Given the description of an element on the screen output the (x, y) to click on. 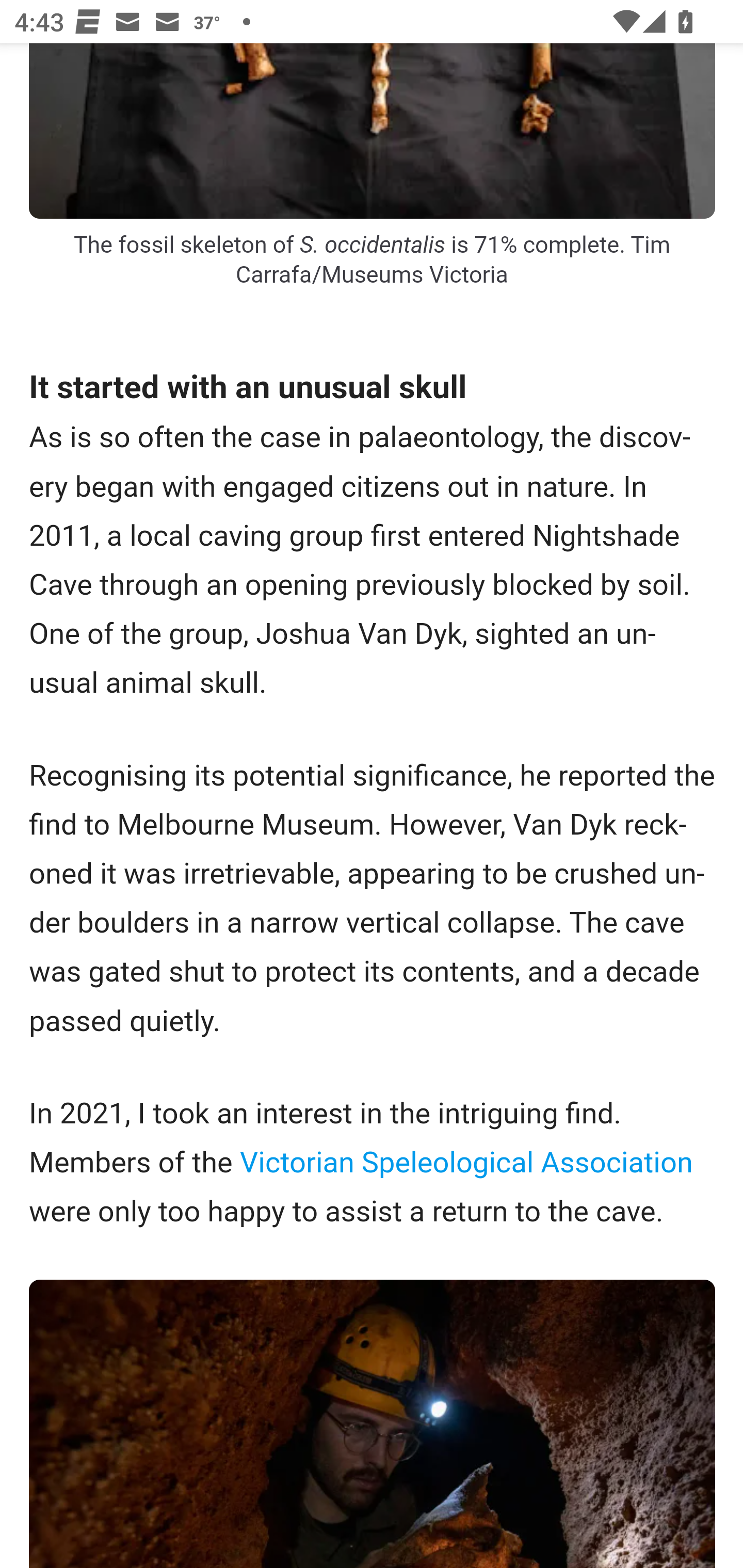
Victorian Speleological Association (465, 1161)
